Given the description of an element on the screen output the (x, y) to click on. 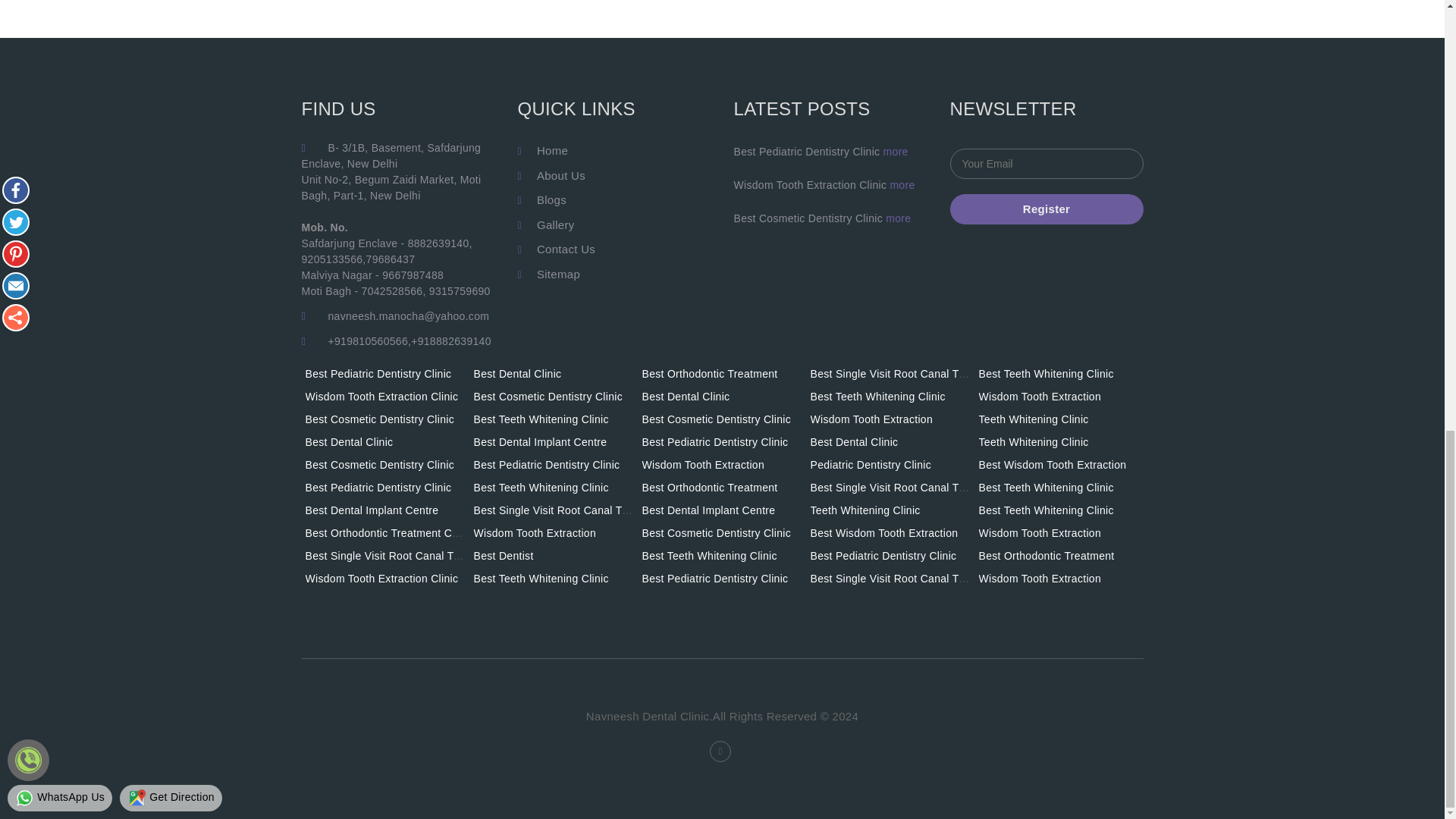
About Us (561, 174)
Home (552, 150)
